Given the description of an element on the screen output the (x, y) to click on. 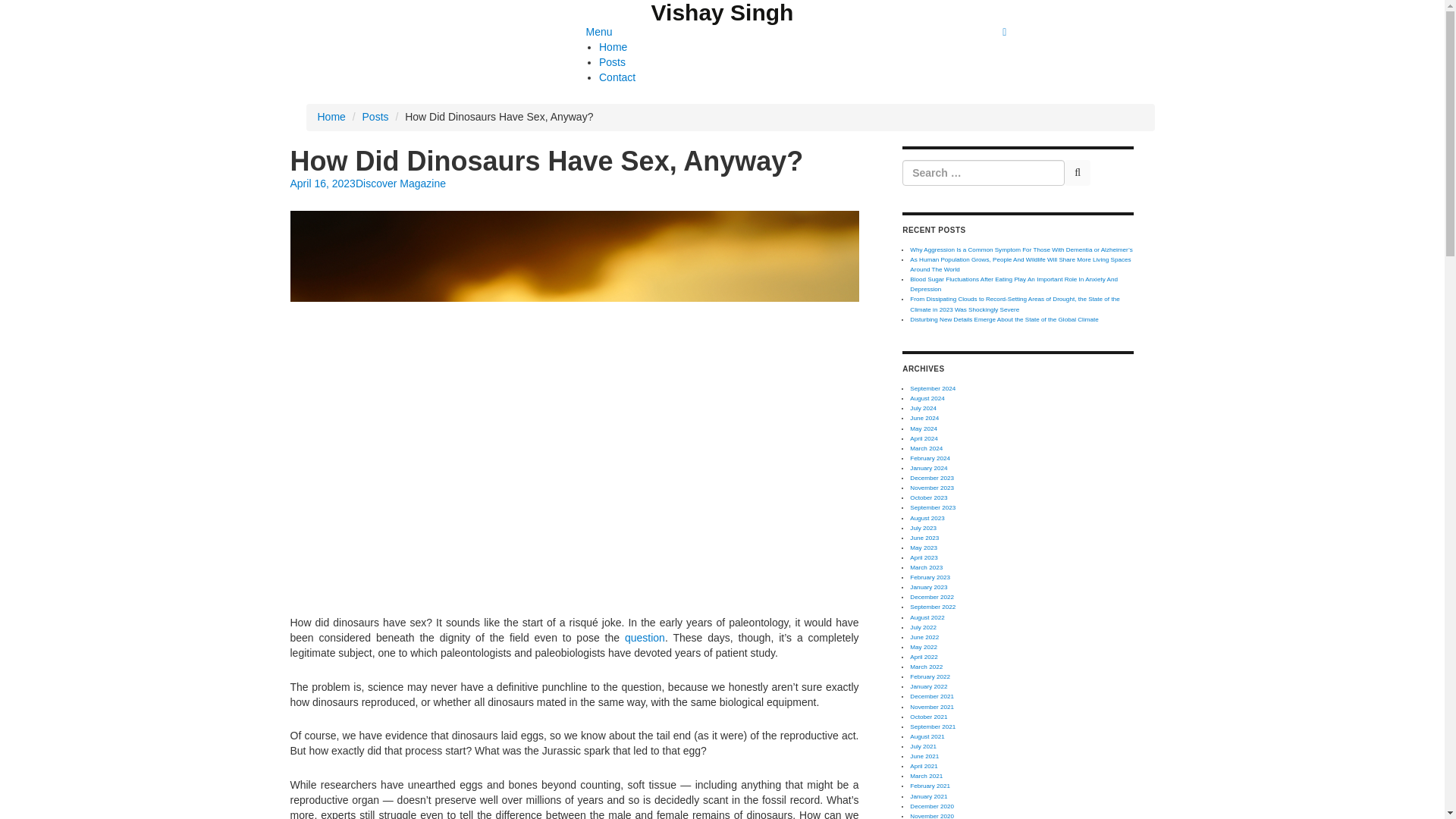
Posts (375, 116)
July 2024 (923, 407)
October 2023 (928, 497)
January 2024 (928, 468)
December 2023 (931, 478)
Contact (616, 77)
November 2023 (931, 487)
